Given the description of an element on the screen output the (x, y) to click on. 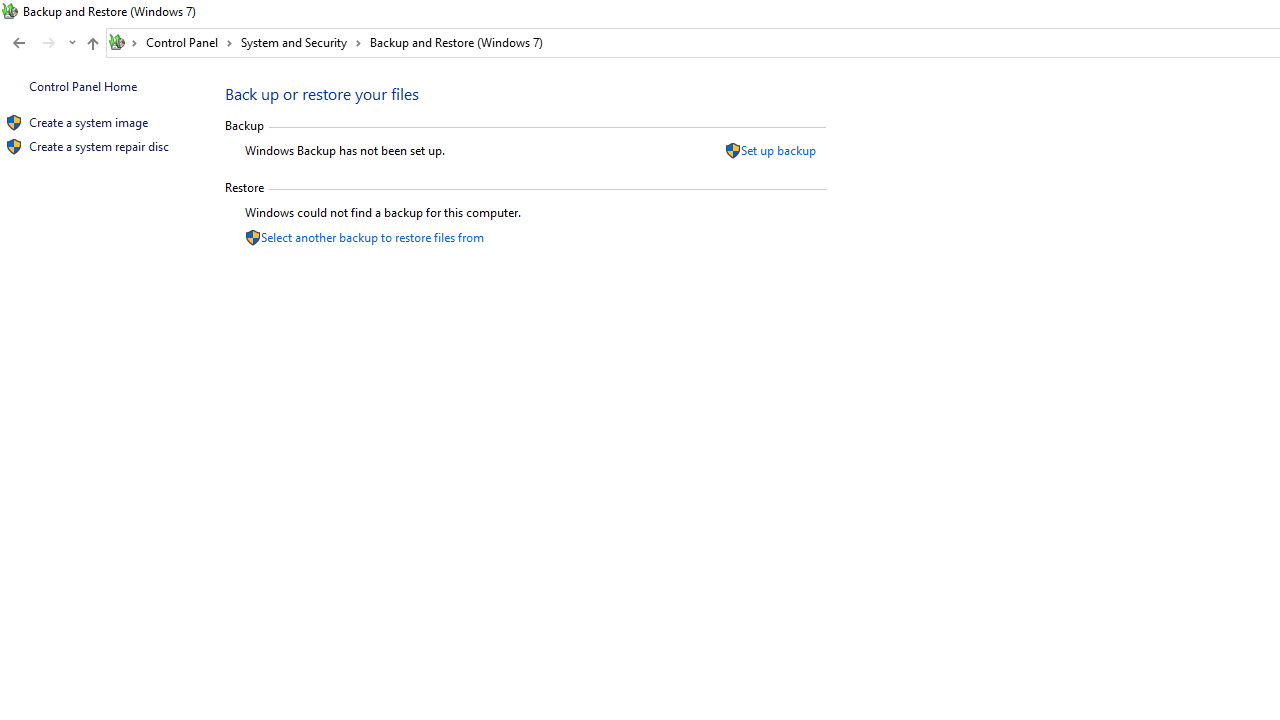
Backup and Restore (Windows 7) (456, 42)
Forward (Alt + Right Arrow) (49, 43)
Recent locations (71, 43)
